Given the description of an element on the screen output the (x, y) to click on. 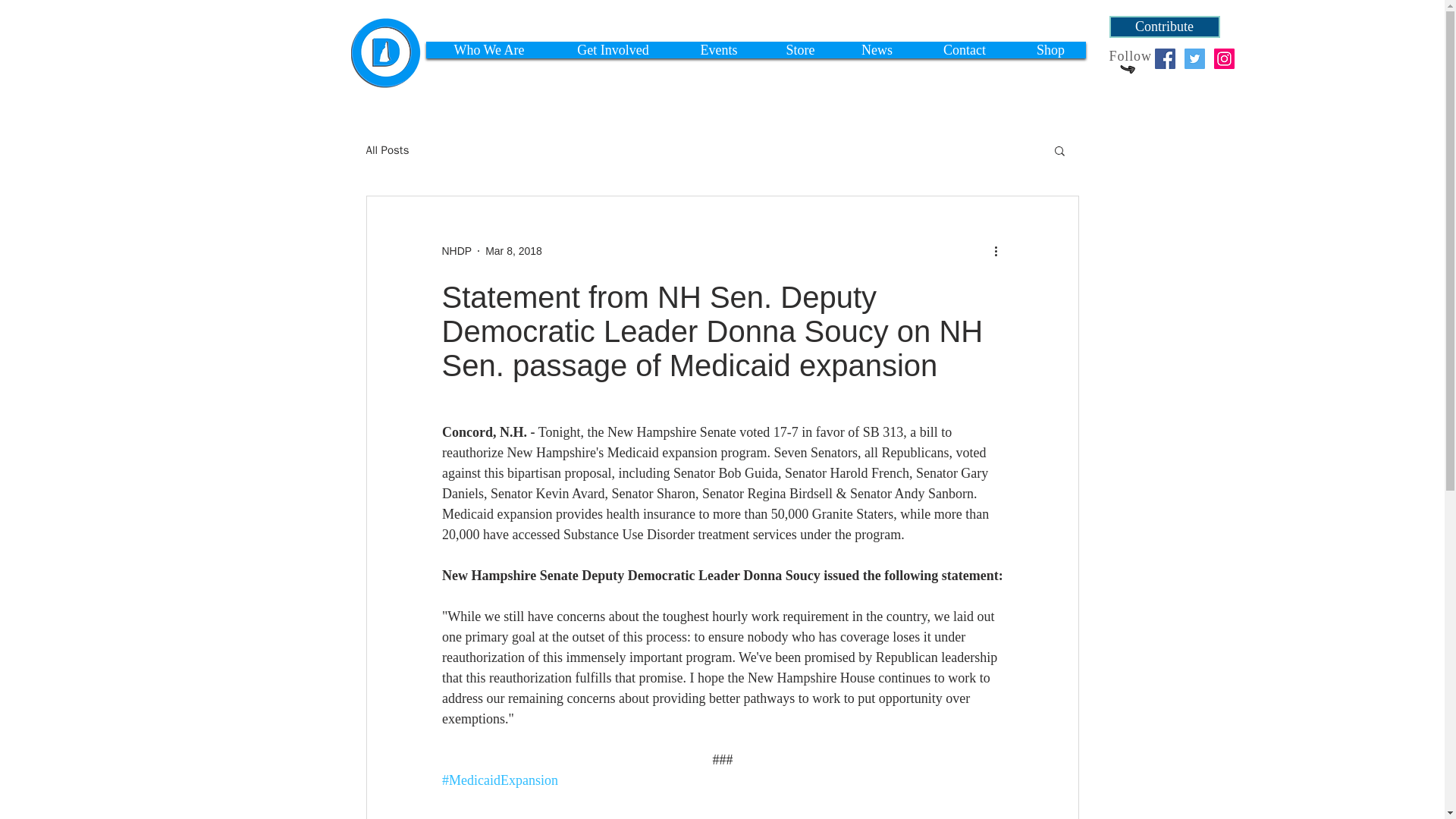
Shop (1051, 50)
Contribute (1164, 26)
NHDP (456, 250)
Store (800, 50)
Mar 8, 2018 (512, 250)
NHDP (456, 250)
Contact (964, 50)
All Posts (387, 149)
Events (719, 50)
